Given the description of an element on the screen output the (x, y) to click on. 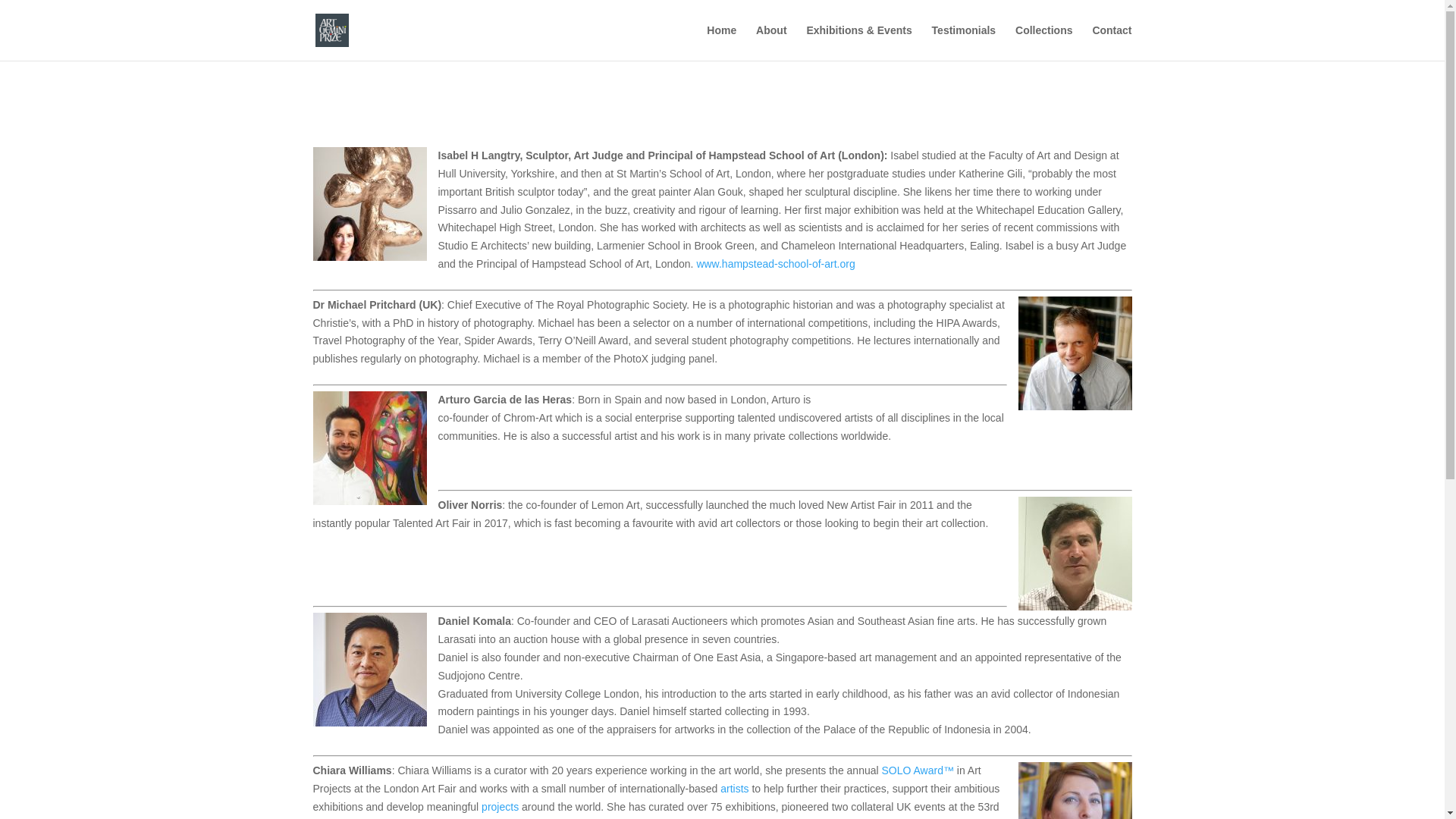
Collections (1042, 42)
projects (499, 806)
artists (734, 788)
Contact (1111, 42)
Testimonials (963, 42)
www.hampstead-school-of-art.org (774, 263)
